Given the description of an element on the screen output the (x, y) to click on. 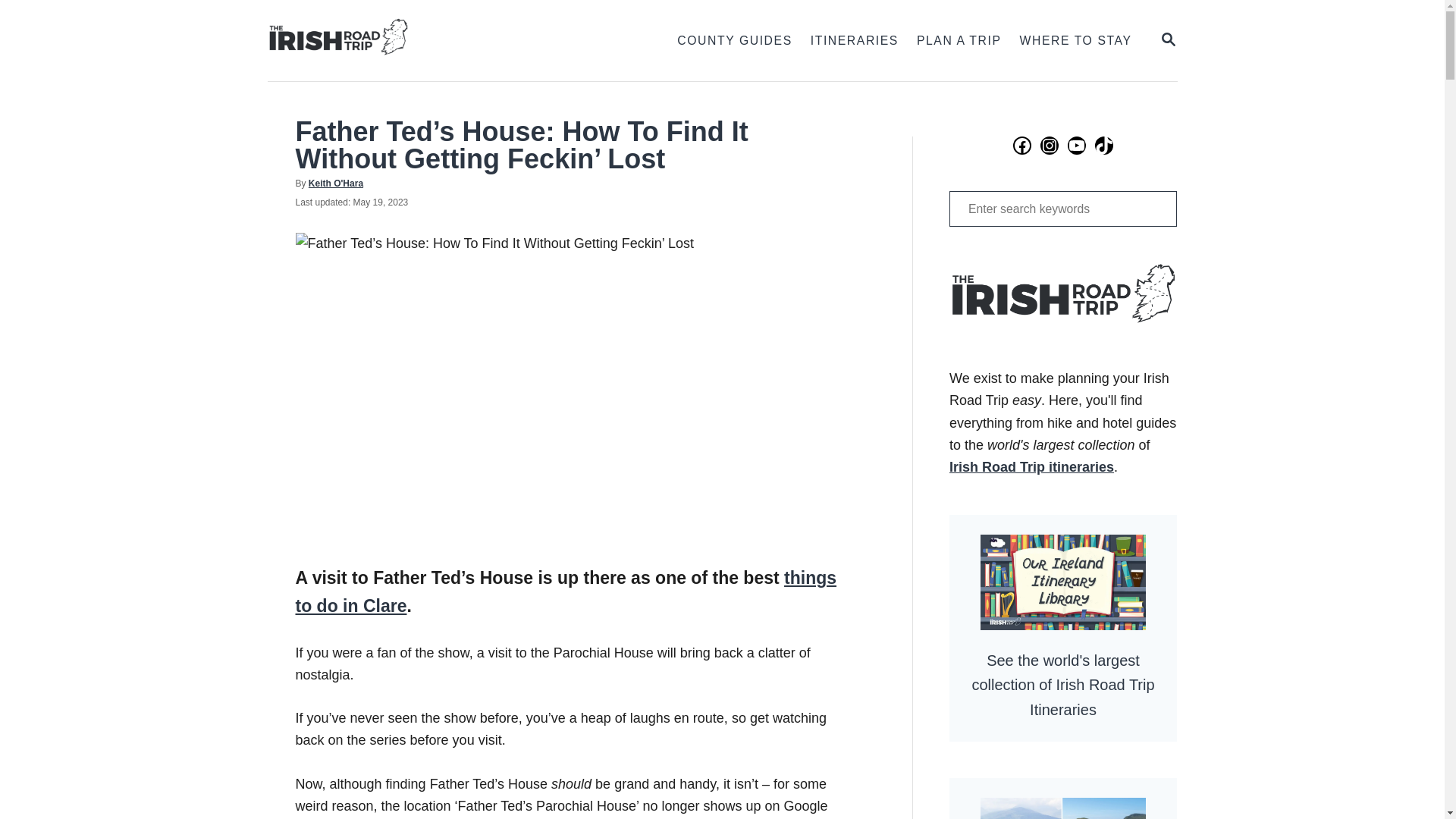
Keith O'Hara (1167, 40)
TikTok (335, 183)
things to do in Clare (1103, 145)
Our 2024 Irish Bucket List (566, 591)
Search (1062, 798)
Search for: (22, 22)
COUNTY GUIDES (1062, 208)
MAGNIFYING GLASS (734, 40)
The Irish Road Trip (1167, 39)
ITINERARIES (423, 40)
PLAN A TRIP (854, 40)
Irish Road Trip itineraries (958, 40)
YouTube (1031, 467)
